Given the description of an element on the screen output the (x, y) to click on. 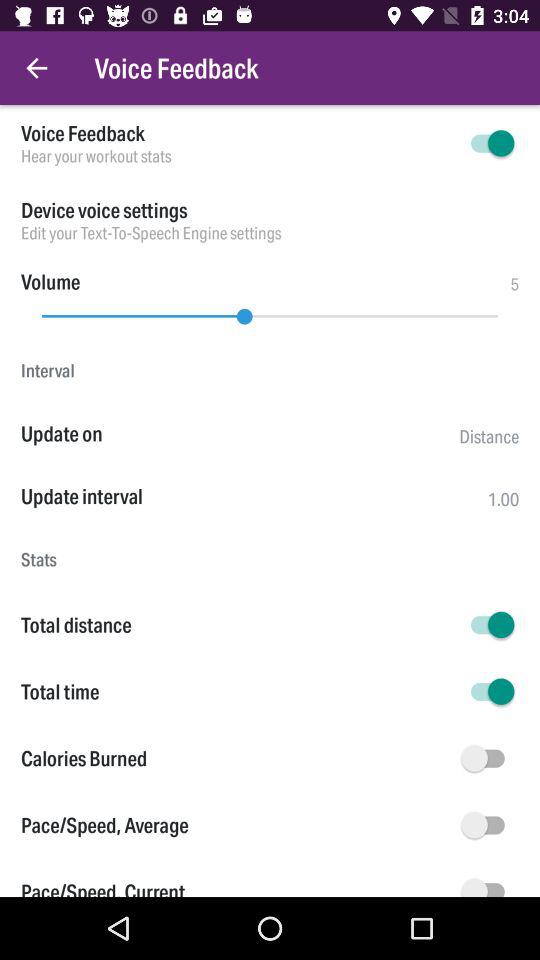
click item above device voice settings (238, 155)
